Given the description of an element on the screen output the (x, y) to click on. 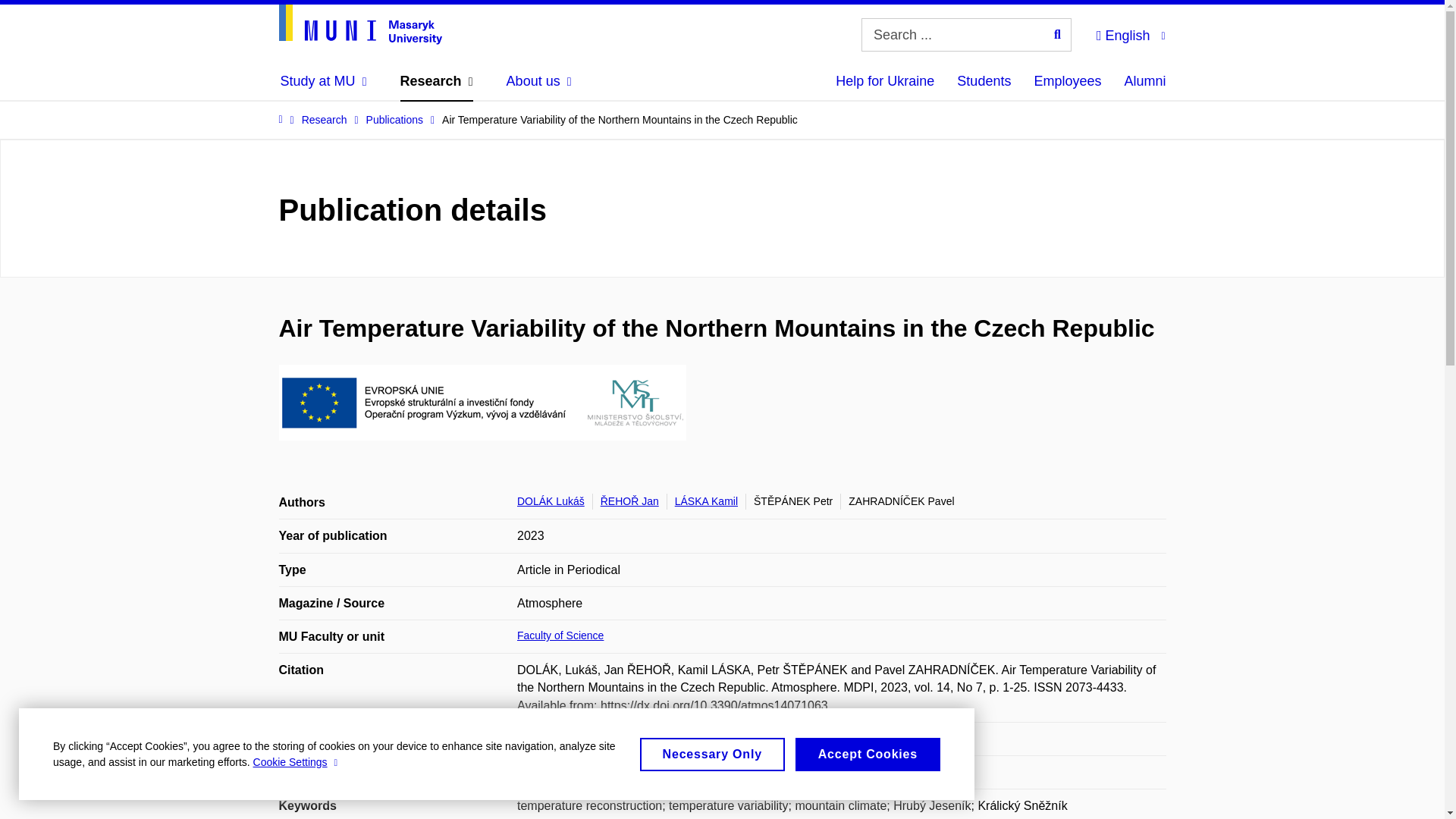
Study at MU (323, 80)
Homepage site (360, 24)
English (1130, 34)
Research (436, 80)
